Given the description of an element on the screen output the (x, y) to click on. 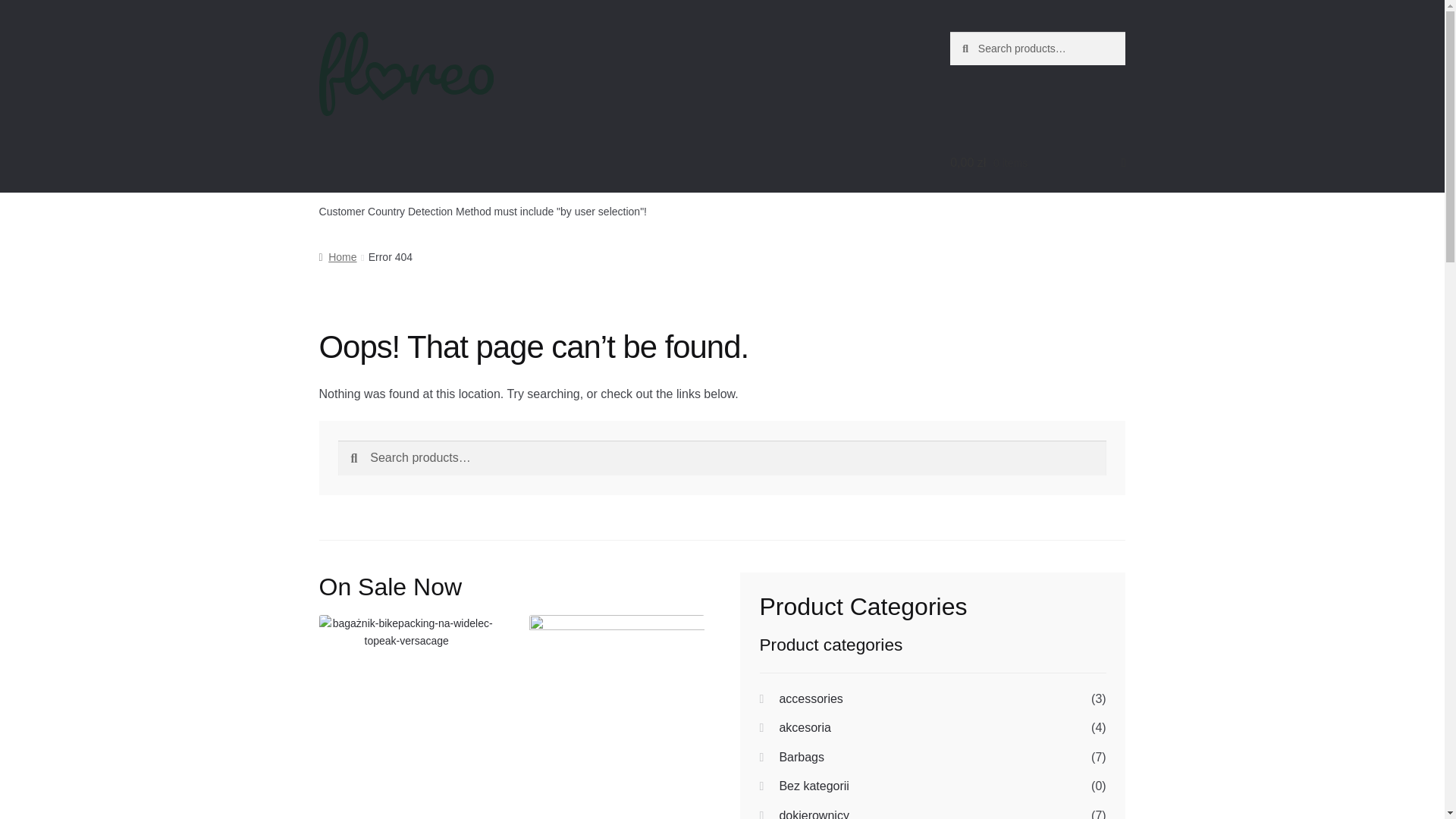
View your shopping cart (1037, 162)
